Given the description of an element on the screen output the (x, y) to click on. 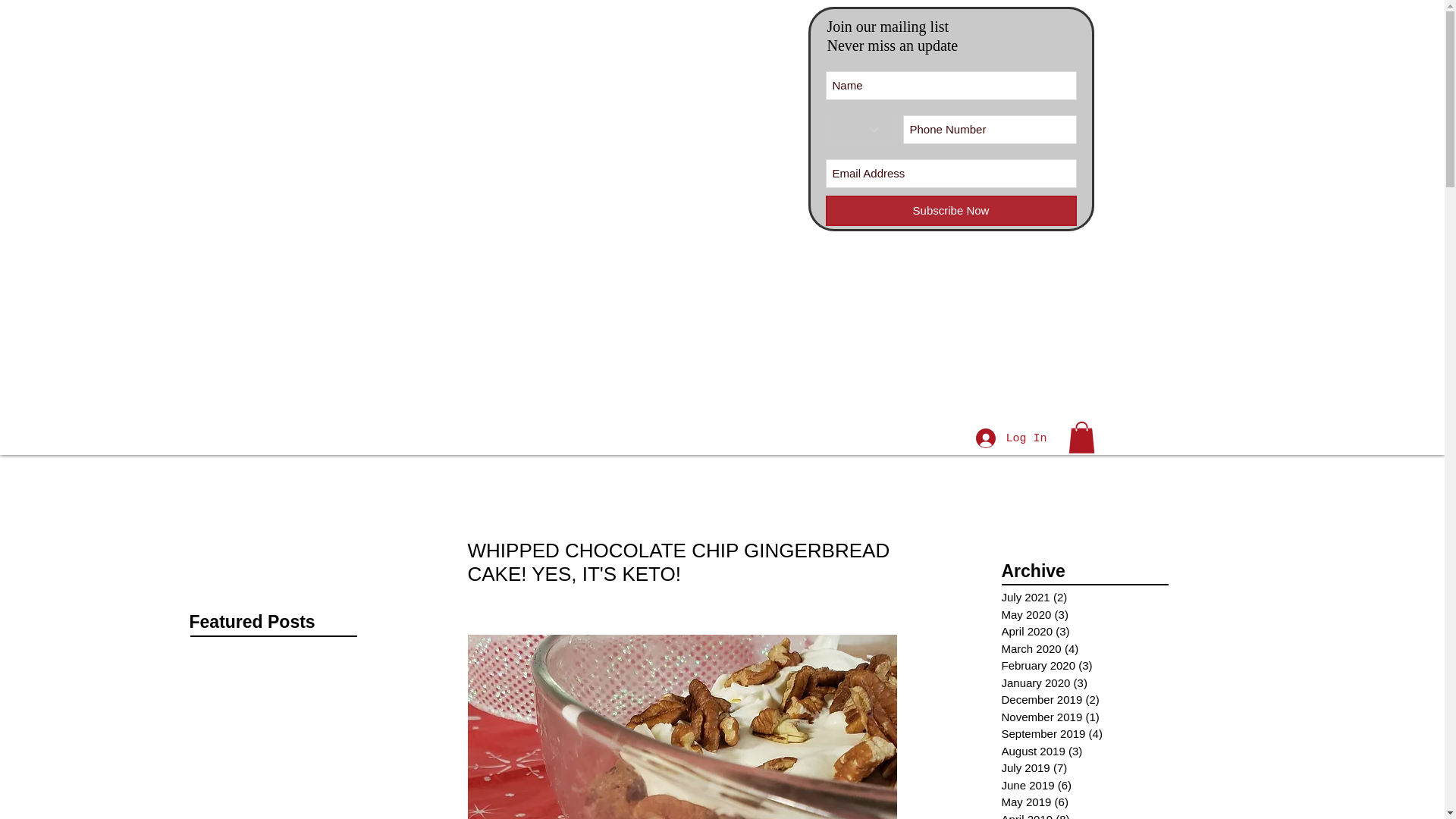
Subscribe Now (950, 210)
Log In (1009, 438)
